Given the description of an element on the screen output the (x, y) to click on. 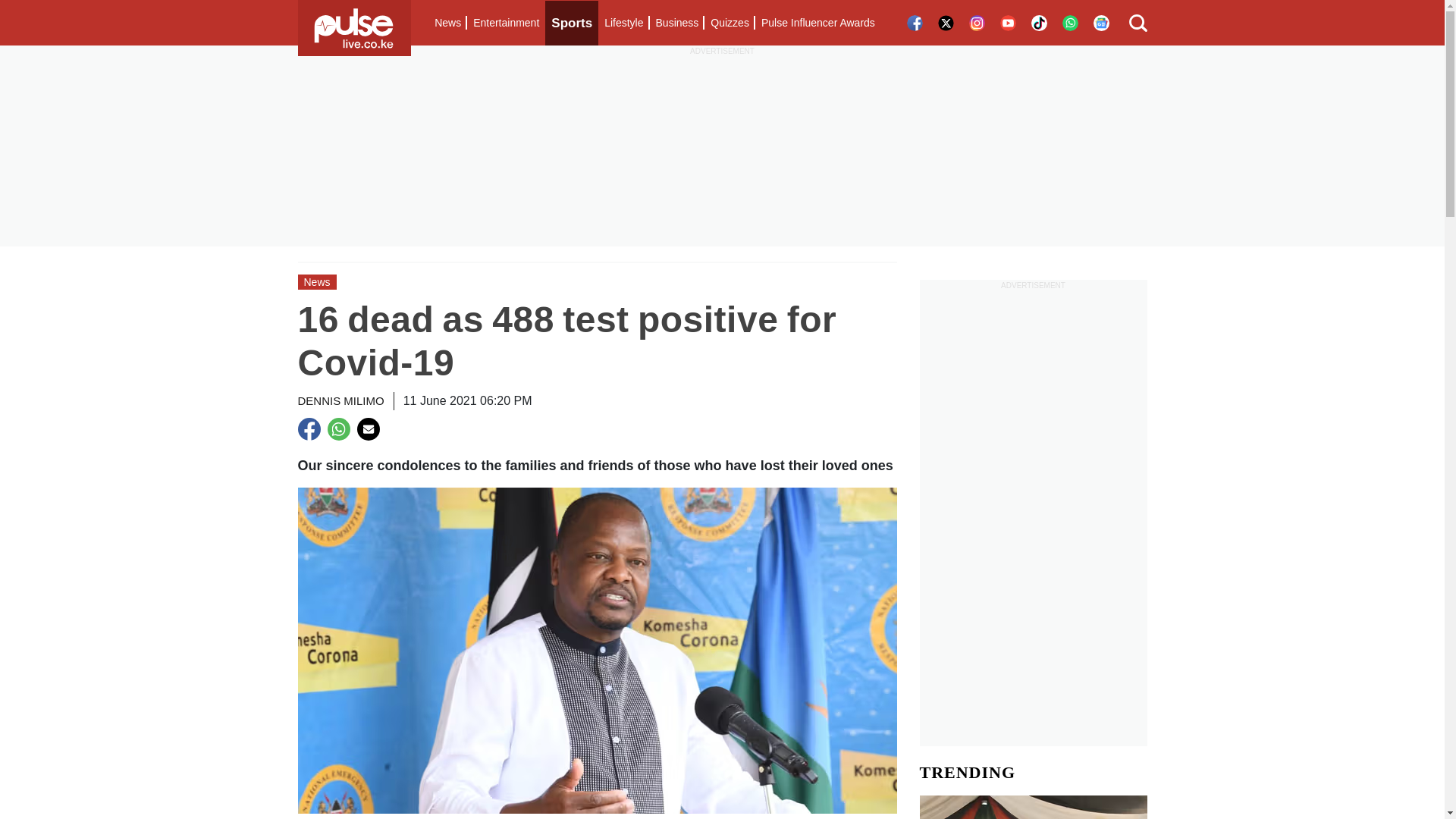
Quizzes (729, 22)
Business (676, 22)
Pulse Influencer Awards (817, 22)
Entertainment (505, 22)
Sports (571, 22)
Lifestyle (623, 22)
